Given the description of an element on the screen output the (x, y) to click on. 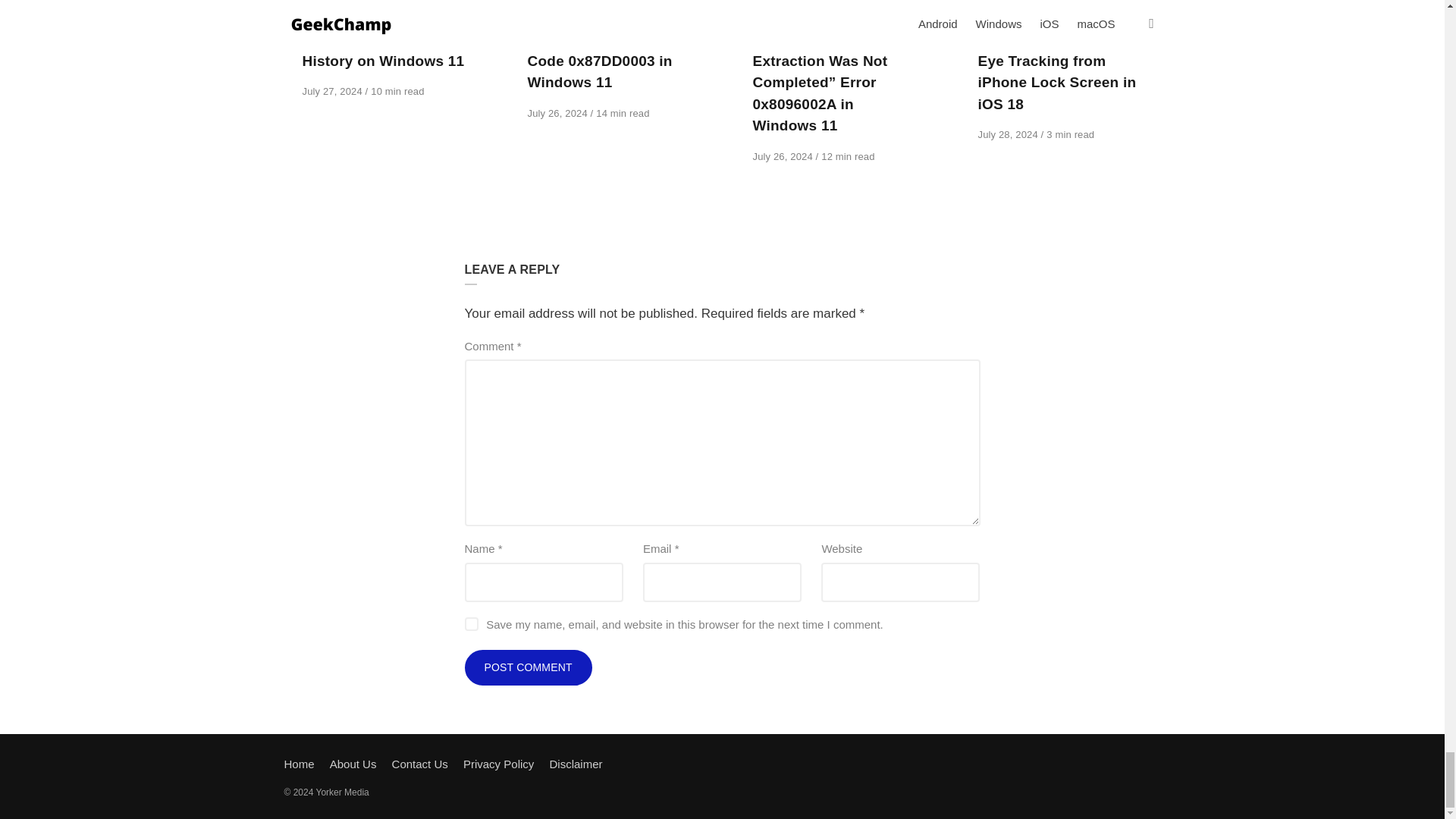
Post Comment (527, 668)
yes (470, 623)
